Given the description of an element on the screen output the (x, y) to click on. 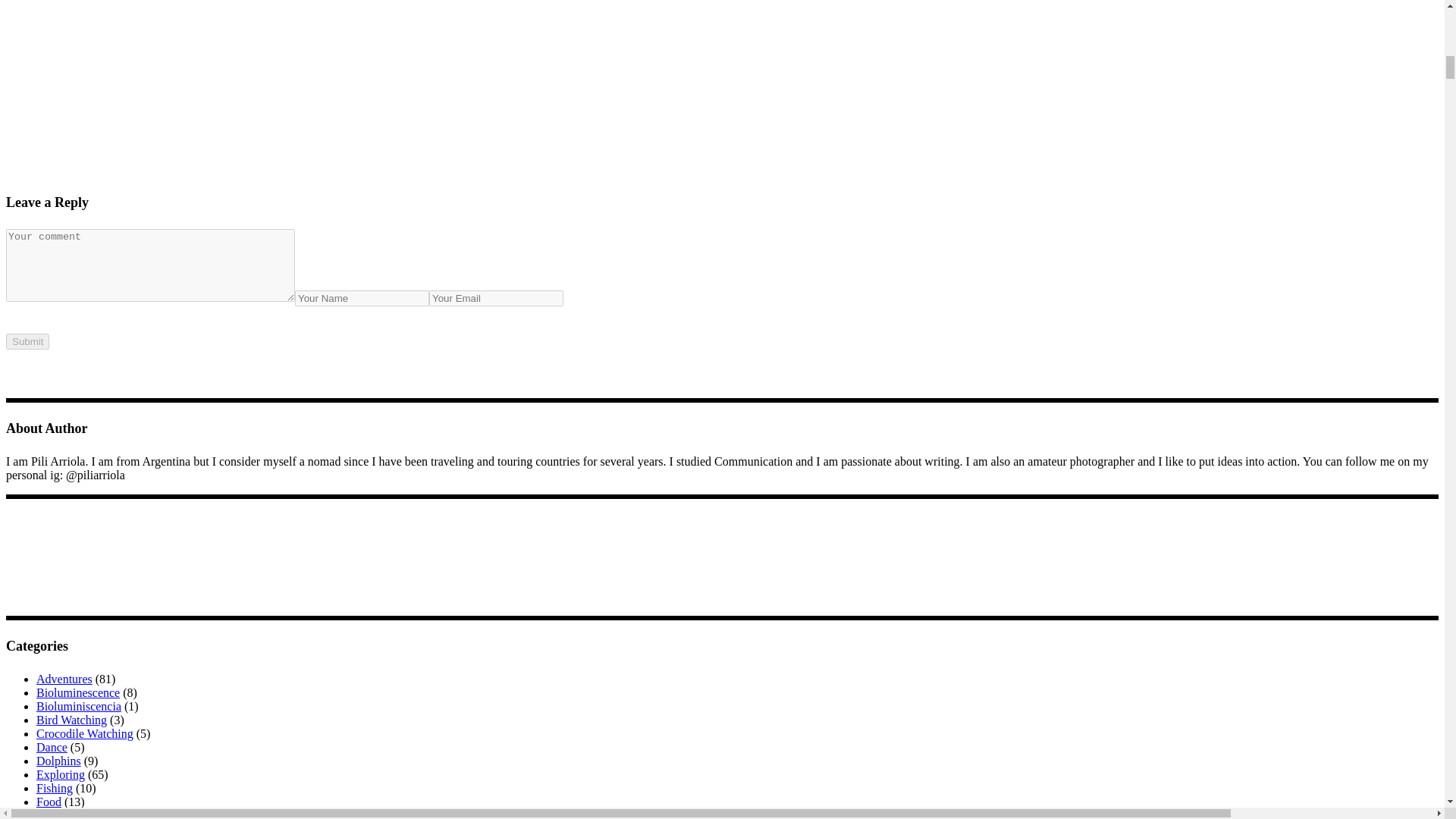
Submit (27, 341)
